Given the description of an element on the screen output the (x, y) to click on. 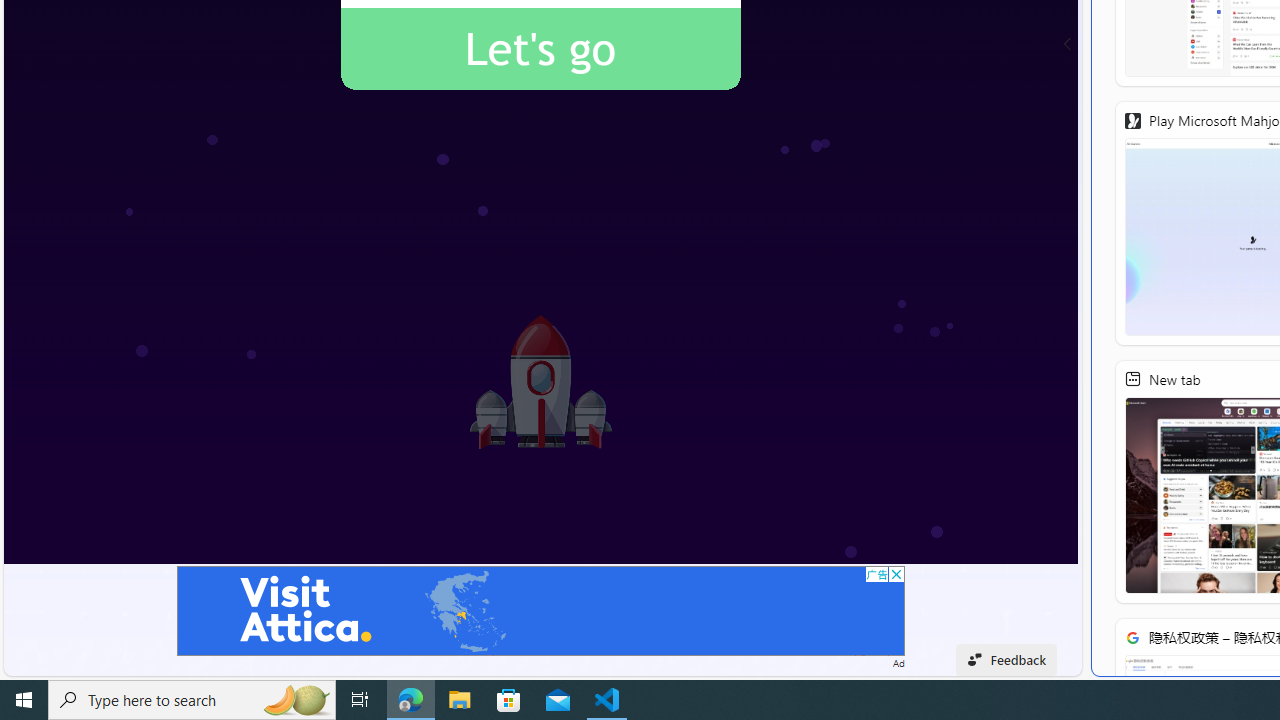
Advertisement (540, 610)
Class: control (1067, 43)
AutomationID: cbb (896, 574)
Advertisement (540, 610)
